Given the description of an element on the screen output the (x, y) to click on. 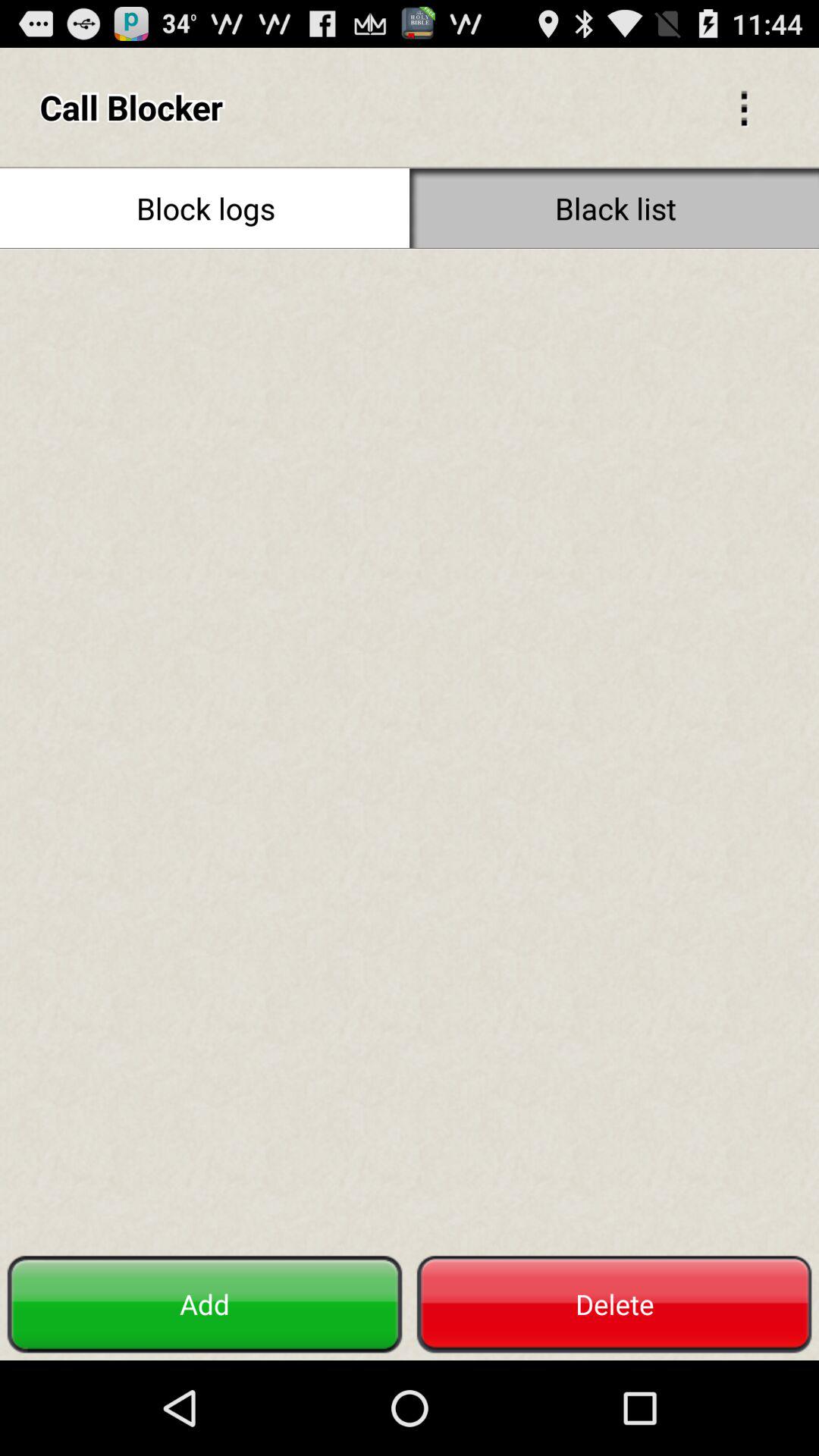
open icon next to add icon (613, 1304)
